Given the description of an element on the screen output the (x, y) to click on. 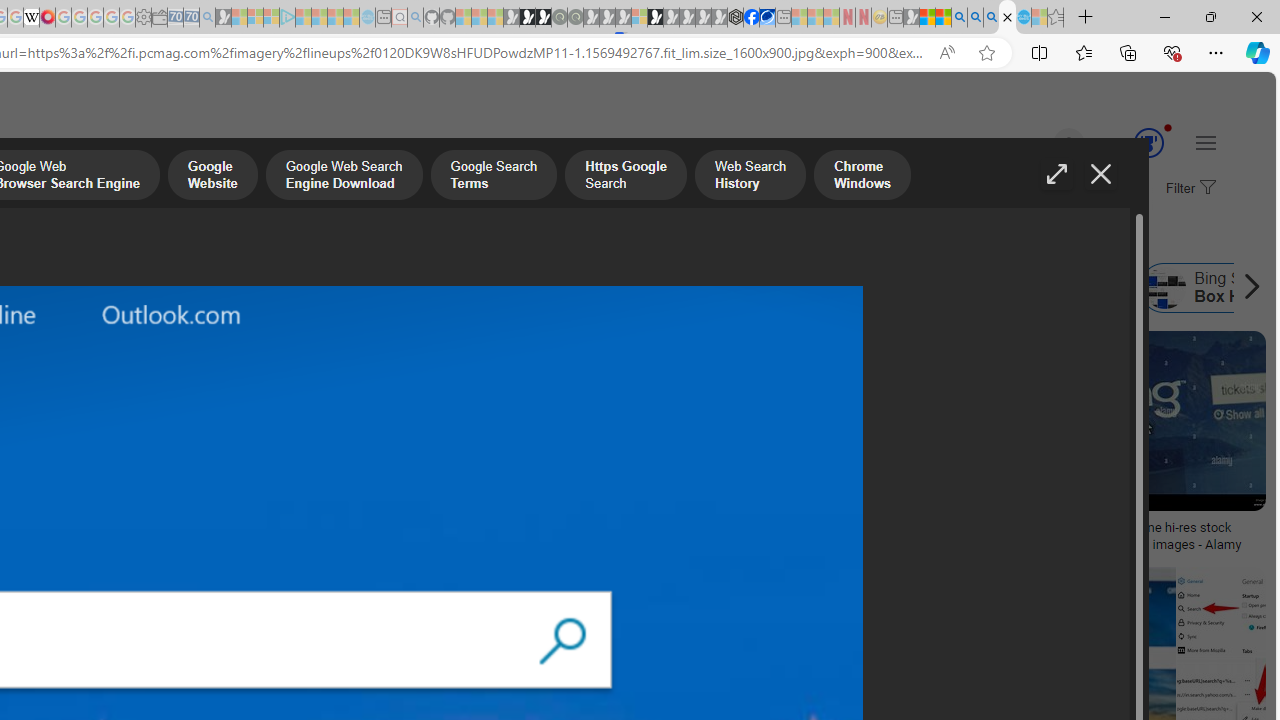
Bing Best Search Engine (173, 287)
Mugs (132, 521)
Bing Search Engine Homepage (658, 287)
